Given the description of an element on the screen output the (x, y) to click on. 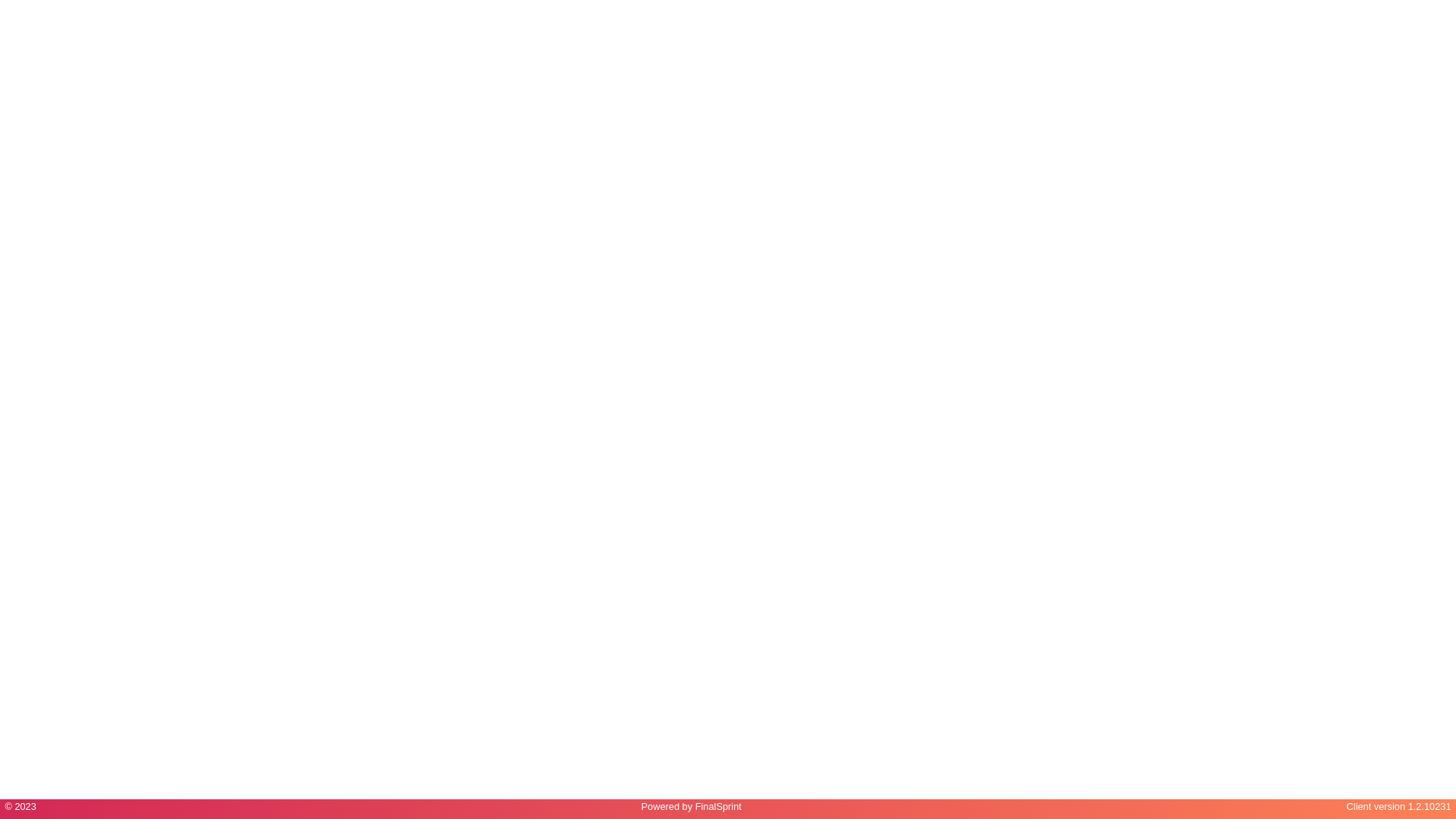
FinalSprint Element type: text (718, 806)
